Given the description of an element on the screen output the (x, y) to click on. 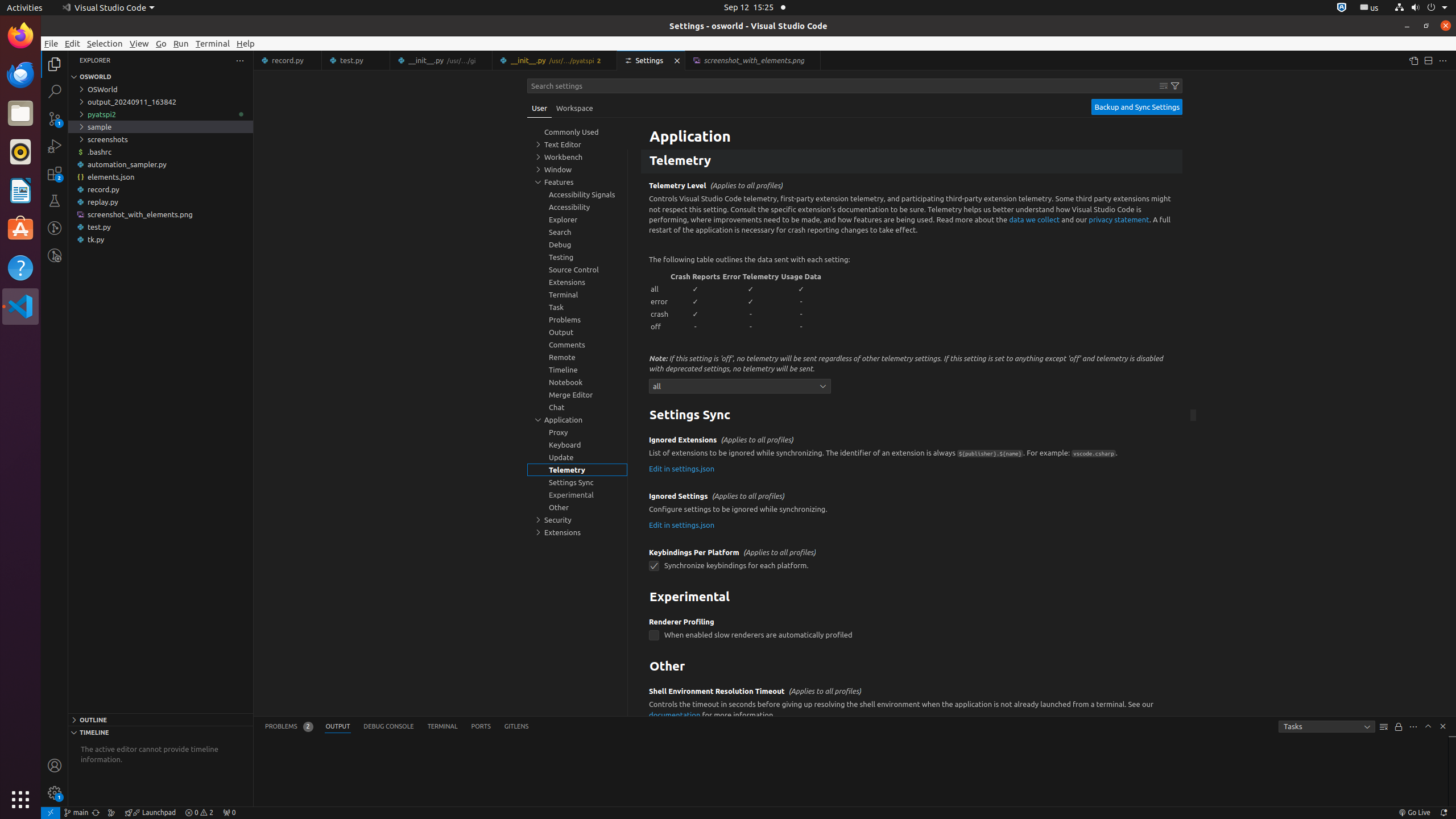
screenshots Element type: tree-item (160, 139)
Merge Editor, group Element type: tree-item (577, 394)
Comments, group Element type: tree-item (577, 344)
Workbench, group Element type: tree-item (577, 156)
Debug Console (Ctrl+Shift+Y) Element type: page-tab (388, 726)
